Given the description of an element on the screen output the (x, y) to click on. 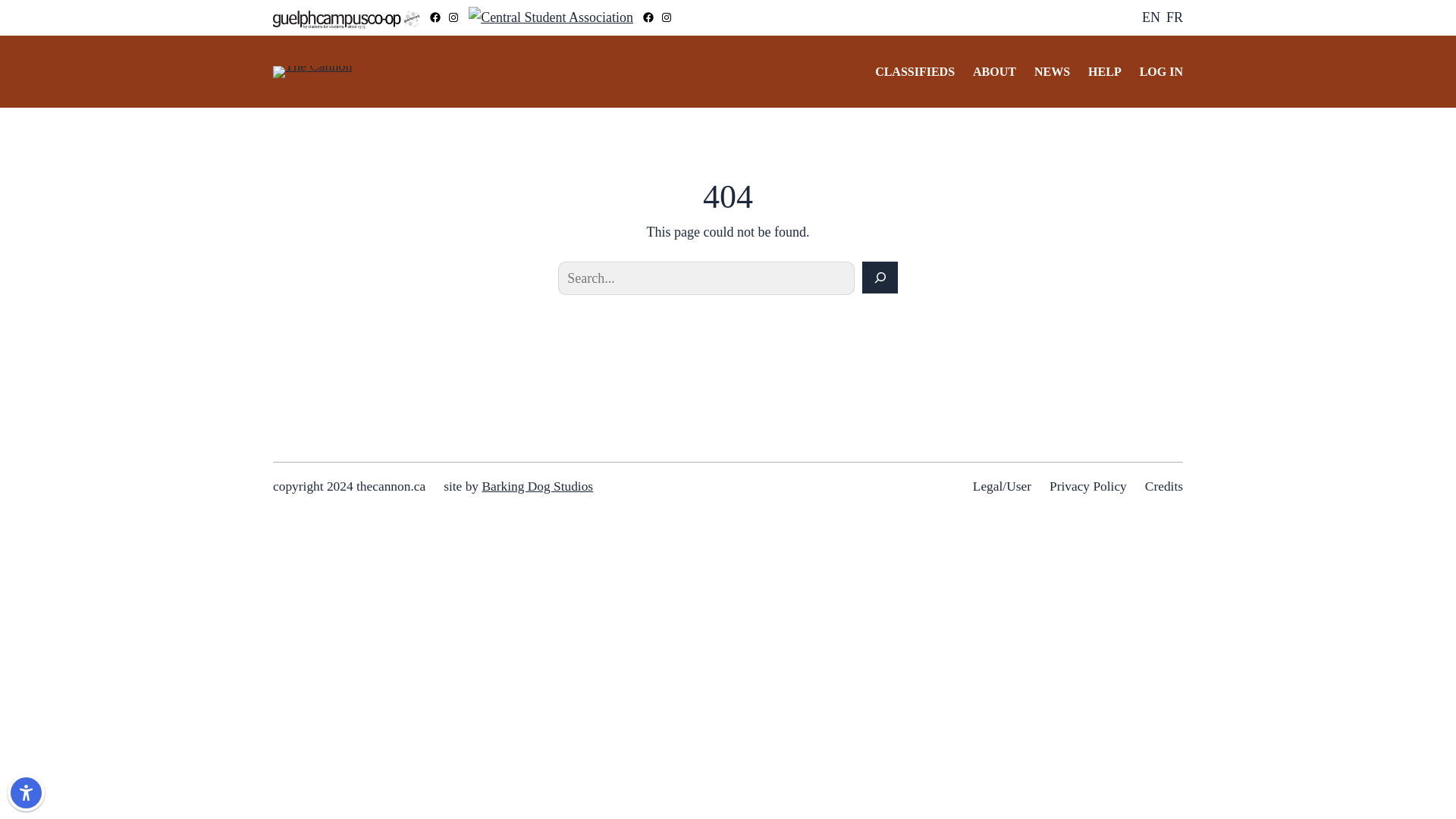
Instagram (453, 17)
Instagram (666, 17)
Privacy Policy (1087, 486)
Barking Dog Studios (536, 486)
LOG IN (1161, 71)
HELP (1104, 71)
NEWS (1051, 71)
Facebook (435, 17)
CLASSIFIEDS (915, 71)
ABOUT (994, 71)
